Given the description of an element on the screen output the (x, y) to click on. 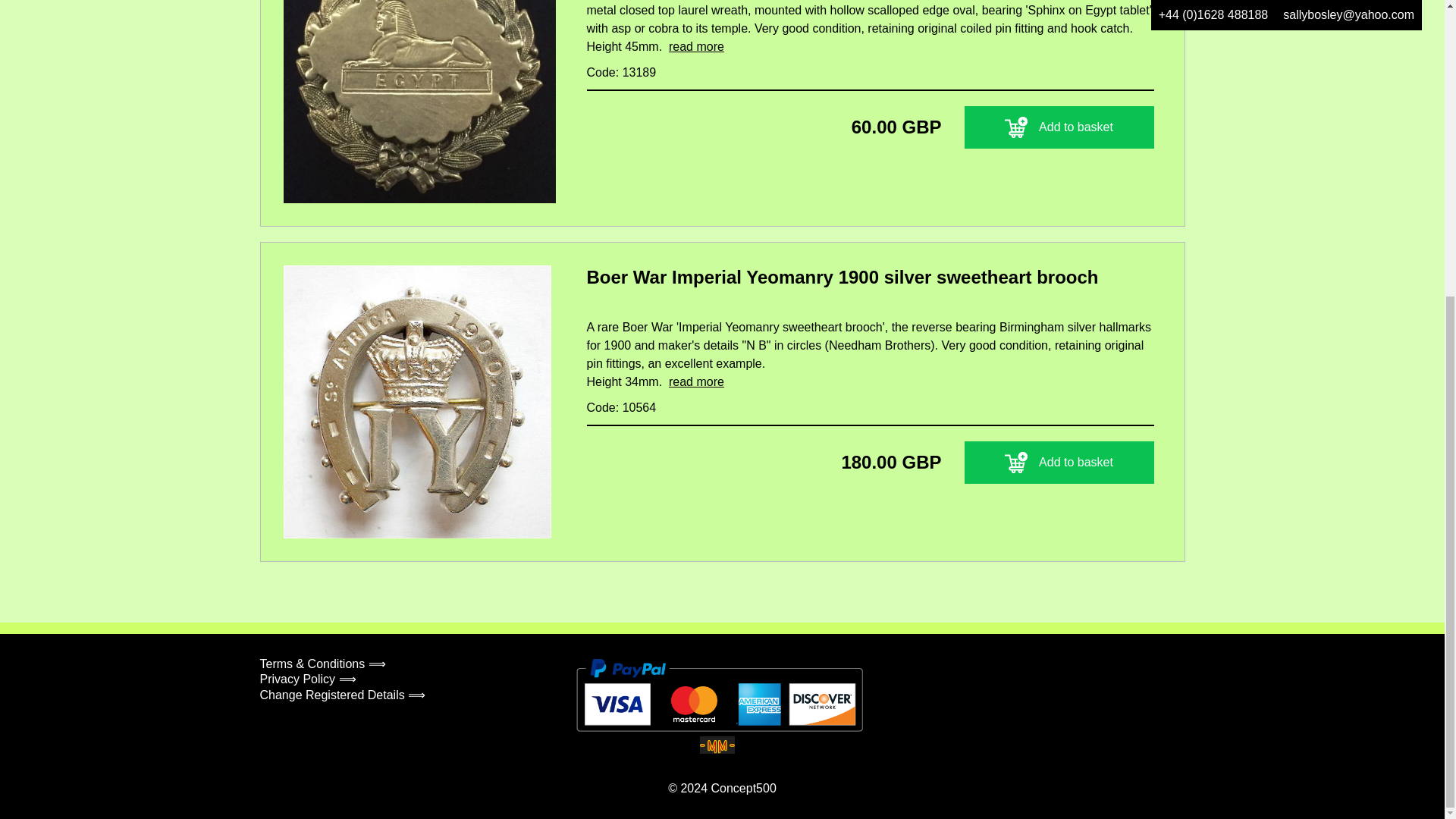
Boer War Imperial Yeomanry 1900 silver sweetheart brooch (870, 282)
read more (695, 381)
Paypal (719, 695)
Add to basket (1058, 127)
Boer War Imperial Yeomanry 1900 silver sweetheart brooch (870, 282)
Concept500 (743, 787)
add to basket (1015, 462)
Code: 10564 (621, 407)
read more (695, 46)
add to basket (1015, 127)
